Given the description of an element on the screen output the (x, y) to click on. 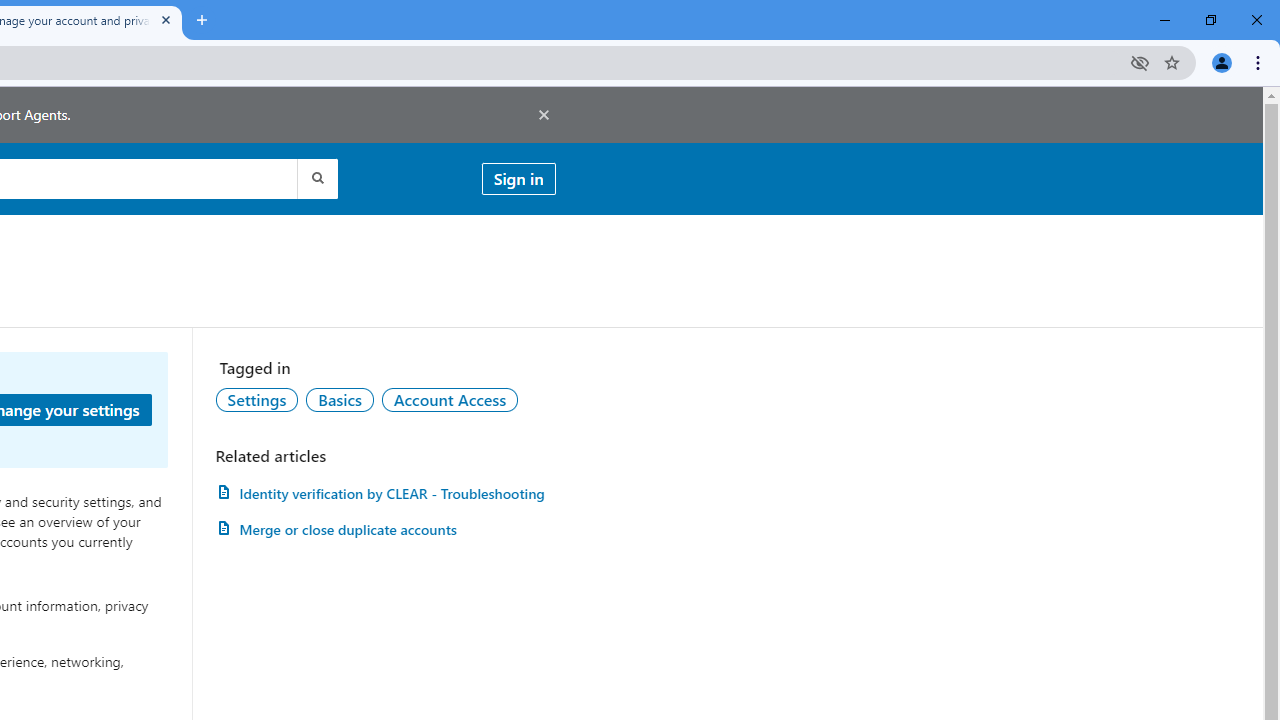
AutomationID: article-link-a1337200 (385, 529)
Merge or close duplicate accounts (385, 529)
Account Access (449, 399)
